Given the description of an element on the screen output the (x, y) to click on. 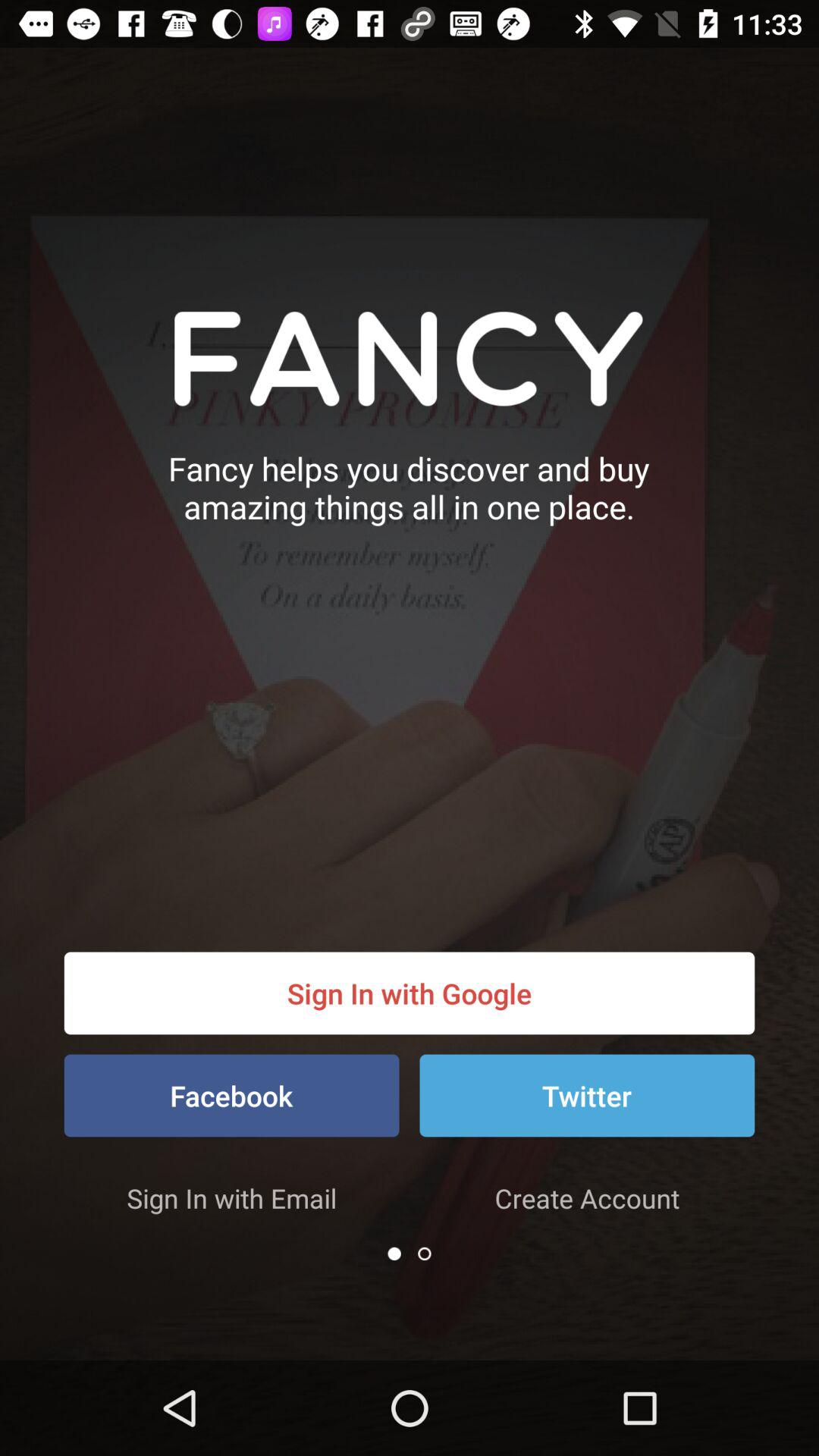
scroll until twitter (586, 1095)
